Given the description of an element on the screen output the (x, y) to click on. 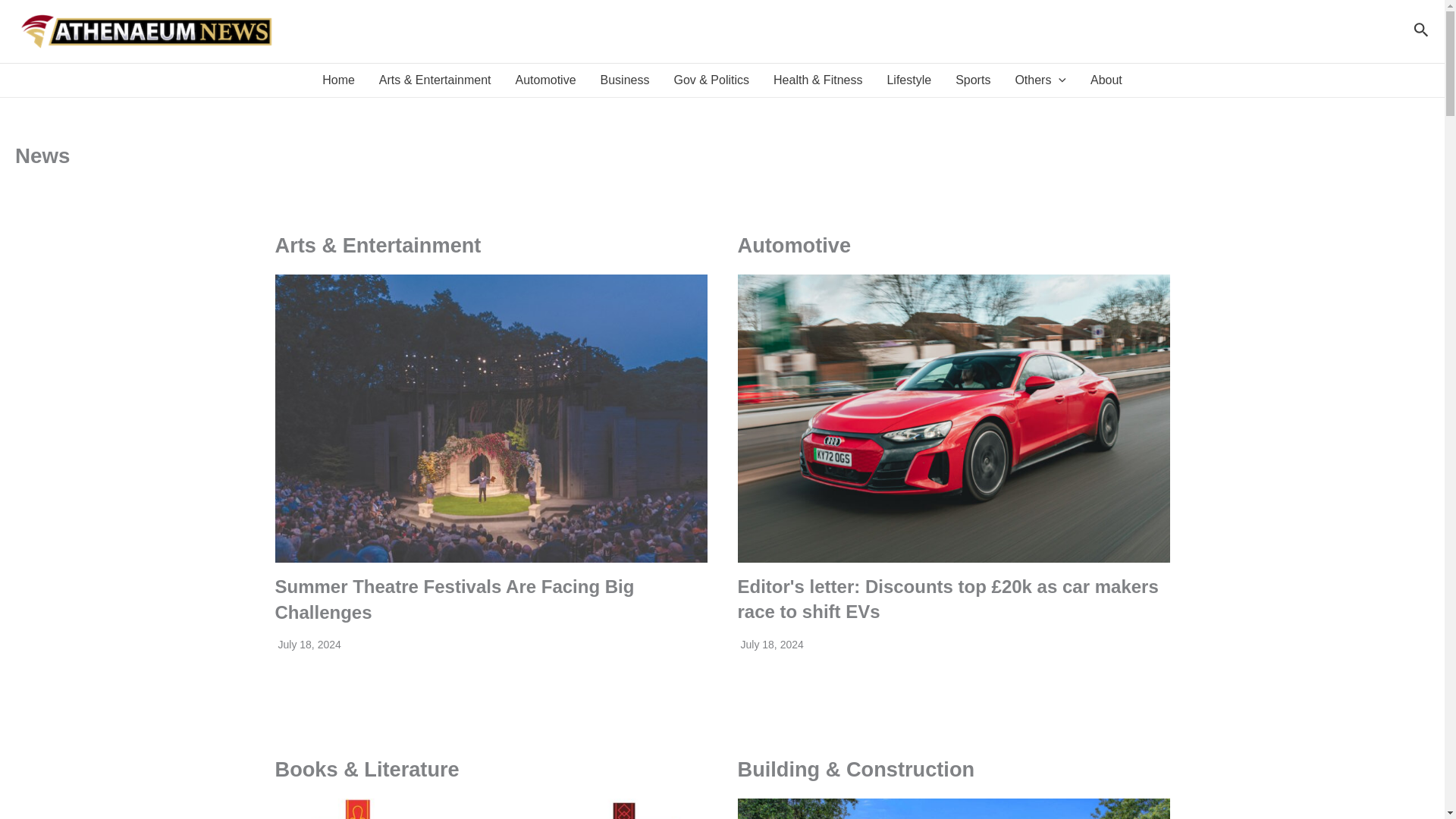
Lifestyle (909, 80)
Sports (973, 80)
Home (338, 80)
About (1106, 80)
Business (625, 80)
Others (1040, 80)
Automotive (545, 80)
